Given the description of an element on the screen output the (x, y) to click on. 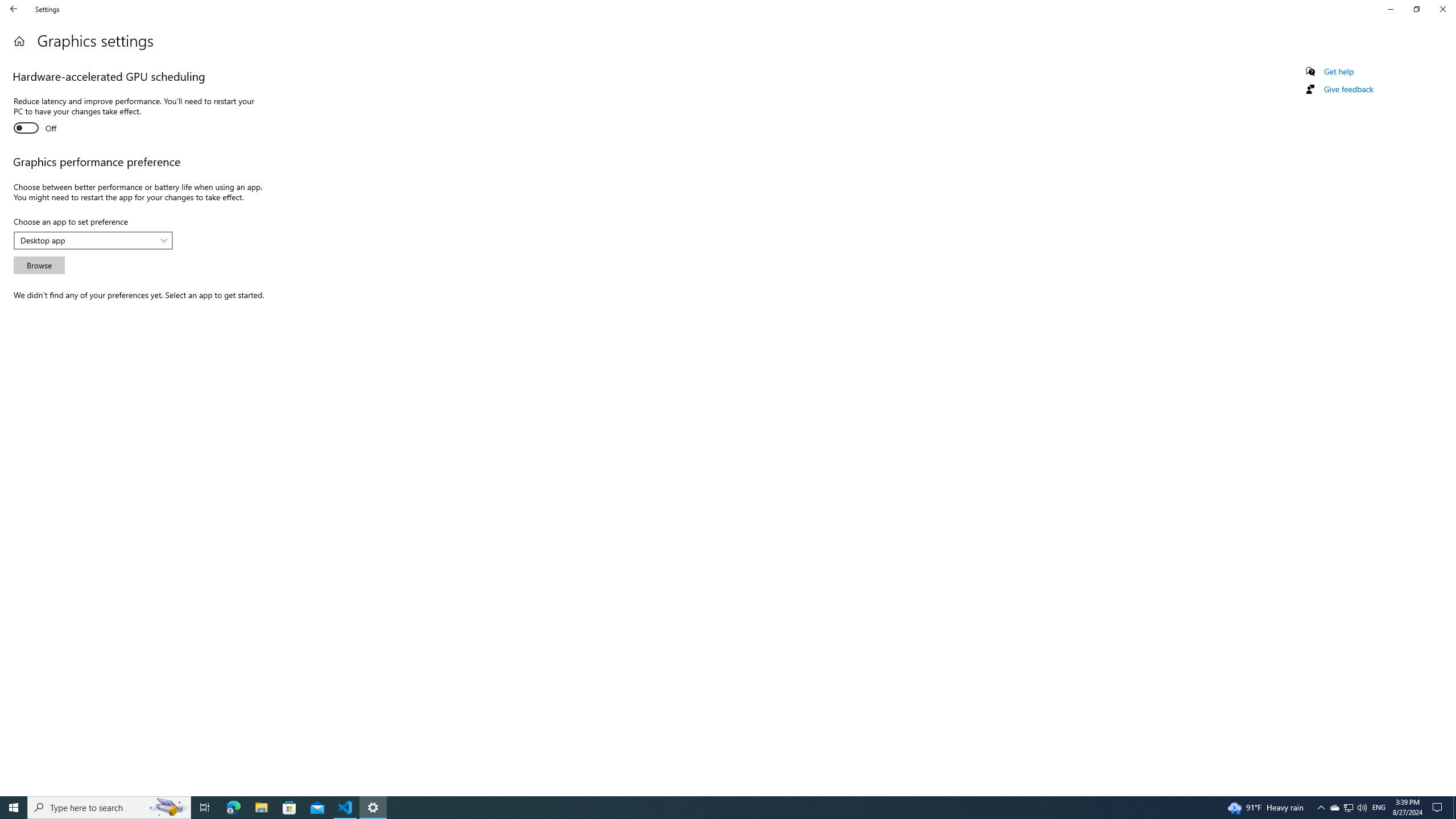
Running applications (706, 807)
